Given the description of an element on the screen output the (x, y) to click on. 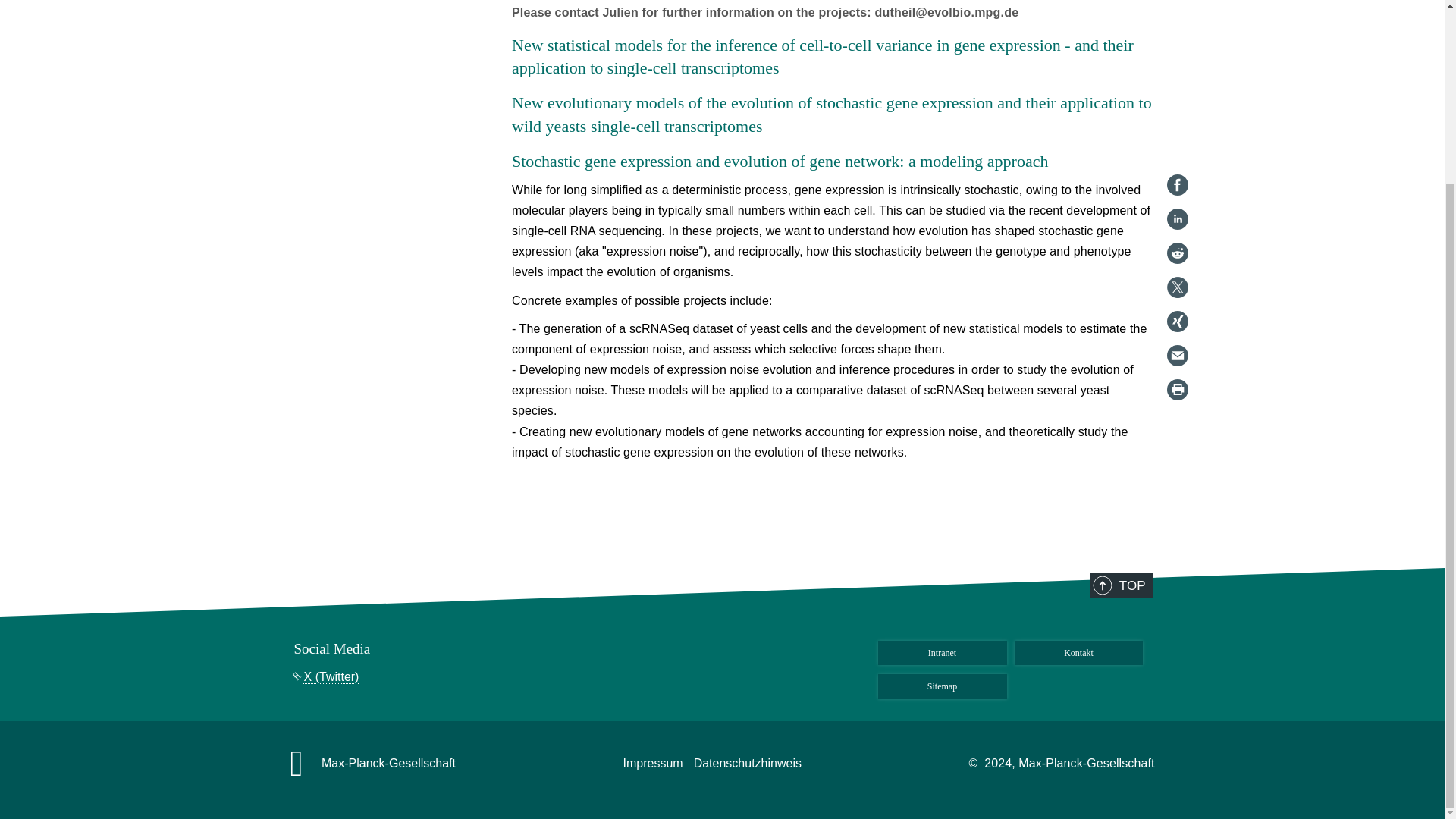
Reddit (1177, 26)
LinkedIn (1177, 2)
Print (1177, 162)
Xing (1177, 94)
Twitter (1177, 60)
E-Mail (1177, 128)
